Given the description of an element on the screen output the (x, y) to click on. 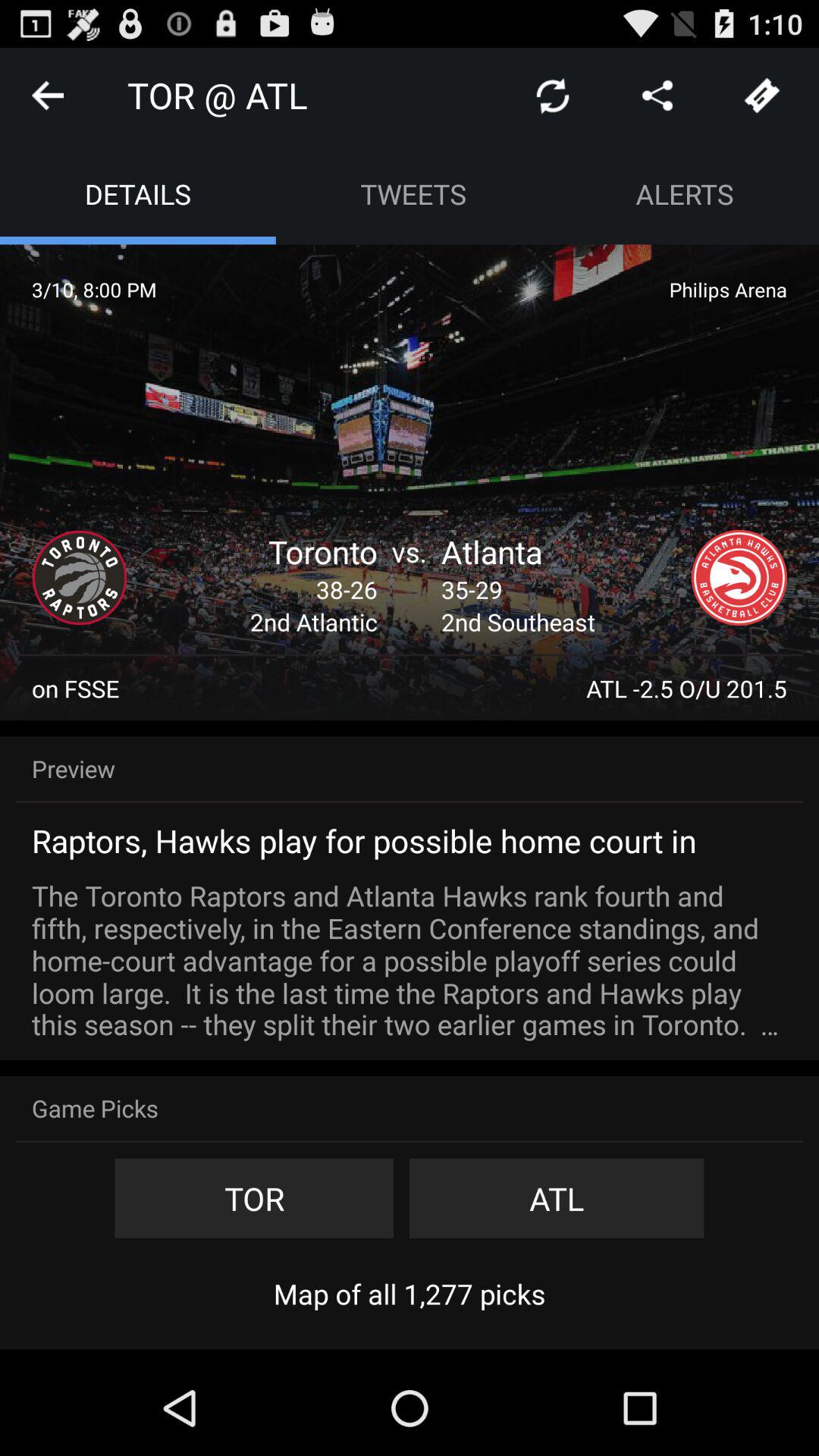
share this match (657, 95)
